Given the description of an element on the screen output the (x, y) to click on. 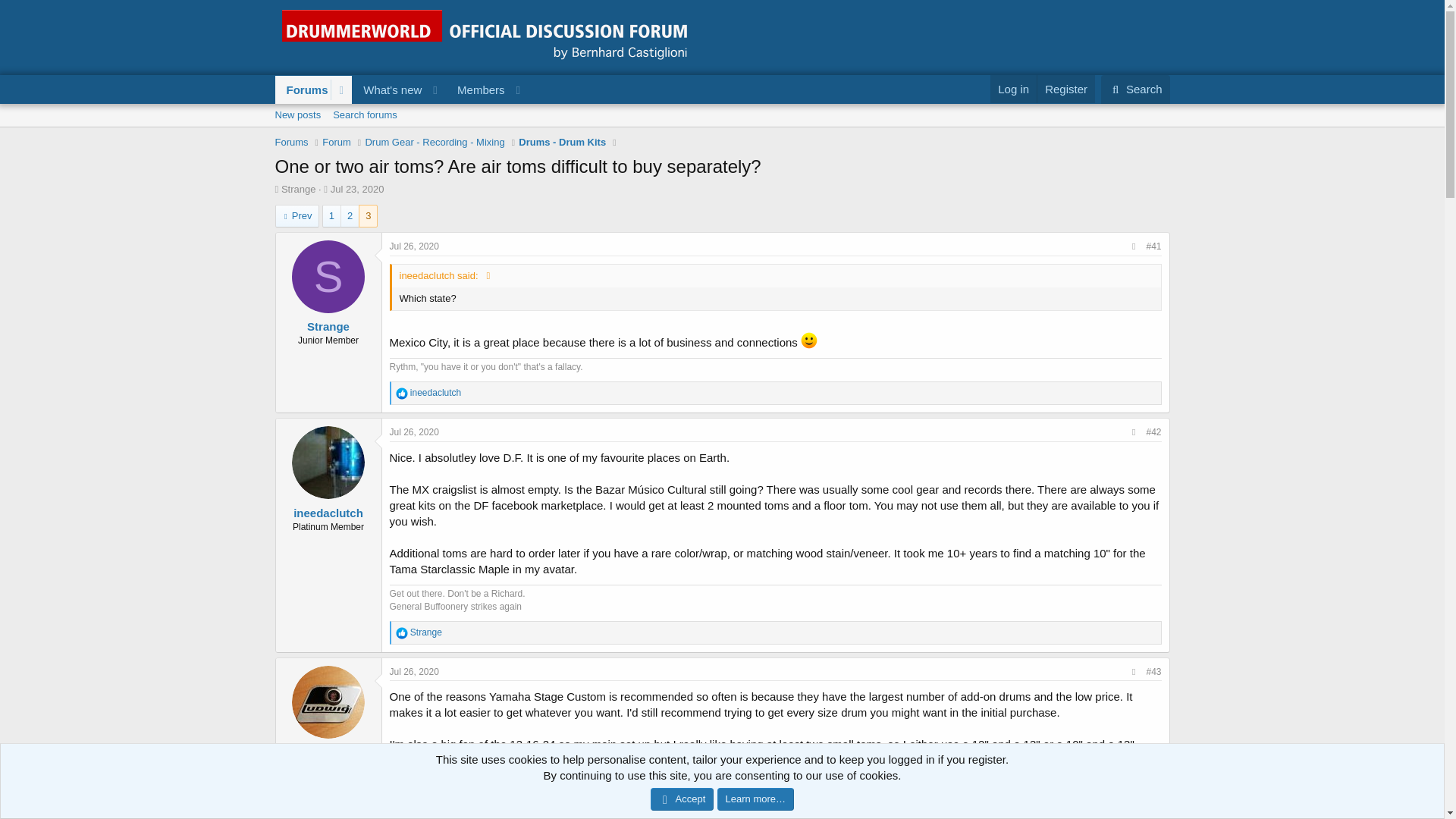
Members (475, 90)
What's new (388, 90)
Jul 26, 2020 at 11:59 PM (414, 799)
Strange (298, 188)
Jul 23, 2020 at 3:27 PM (357, 188)
Search forums (720, 132)
Log in (364, 115)
Prev (1013, 89)
Jul 26, 2020 at 4:05 PM (296, 215)
Drum Gear - Recording - Mixing (414, 671)
Forums (434, 142)
Forum (291, 142)
Like (335, 142)
Register (401, 633)
